Given the description of an element on the screen output the (x, y) to click on. 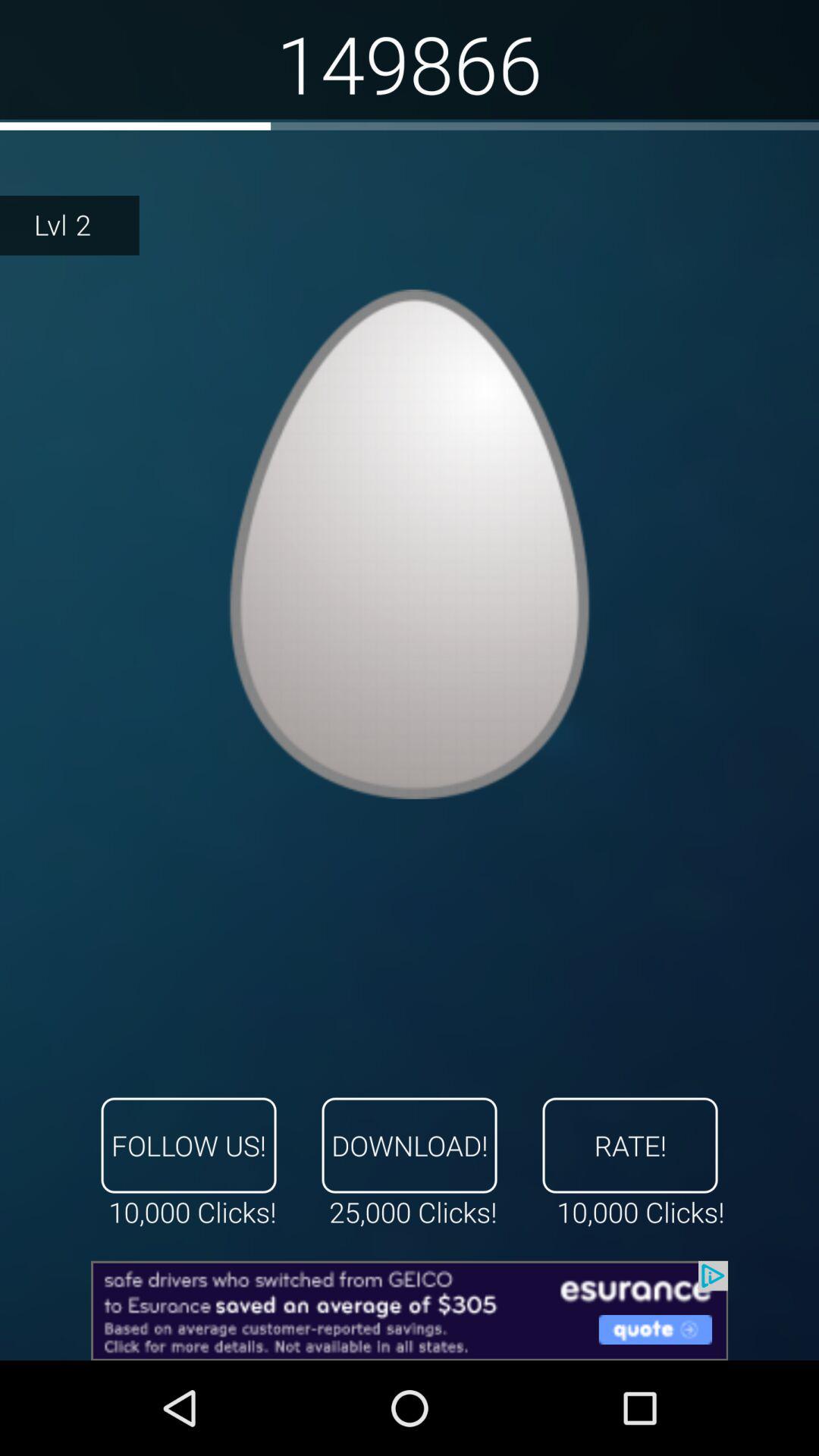
open advertisement (409, 1310)
